Given the description of an element on the screen output the (x, y) to click on. 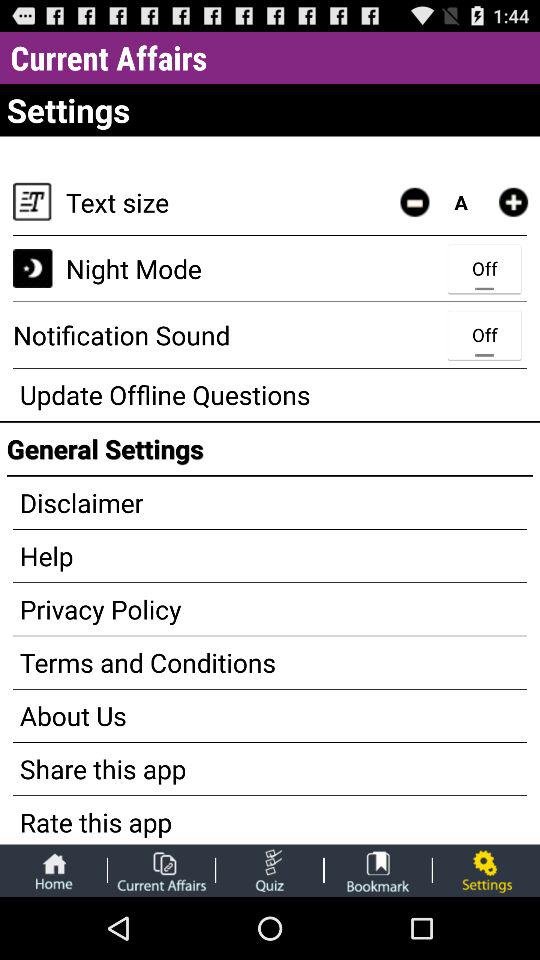
quiz (269, 870)
